Given the description of an element on the screen output the (x, y) to click on. 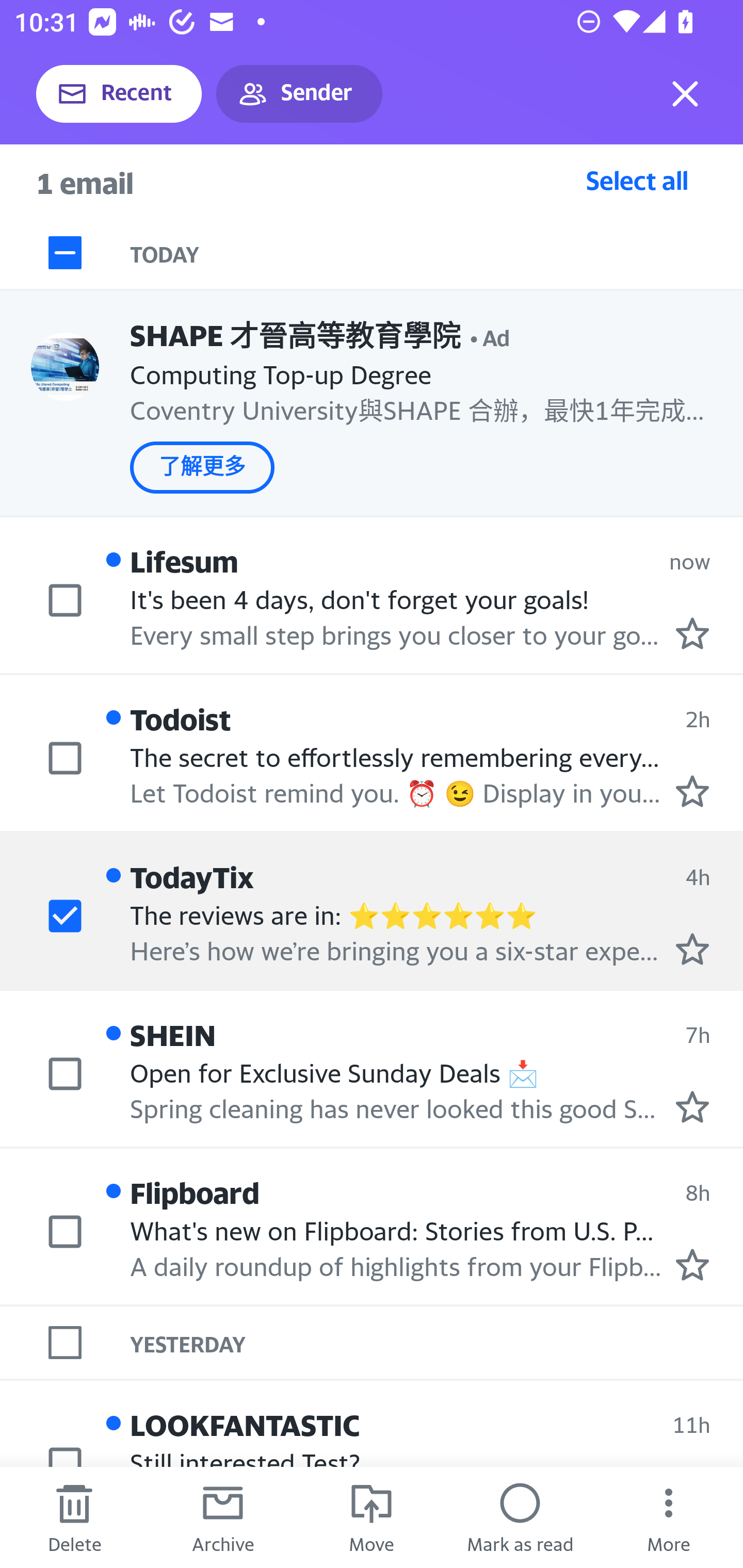
Sender (299, 93)
Exit selection mode (684, 93)
Select all (637, 180)
TODAY (436, 252)
Mark as starred. (692, 632)
Mark as starred. (692, 791)
Mark as starred. (692, 949)
Mark as starred. (692, 1106)
Mark as starred. (692, 1264)
YESTERDAY (436, 1342)
Delete (74, 1517)
Archive (222, 1517)
Move (371, 1517)
Mark as read (519, 1517)
More (668, 1517)
